Given the description of an element on the screen output the (x, y) to click on. 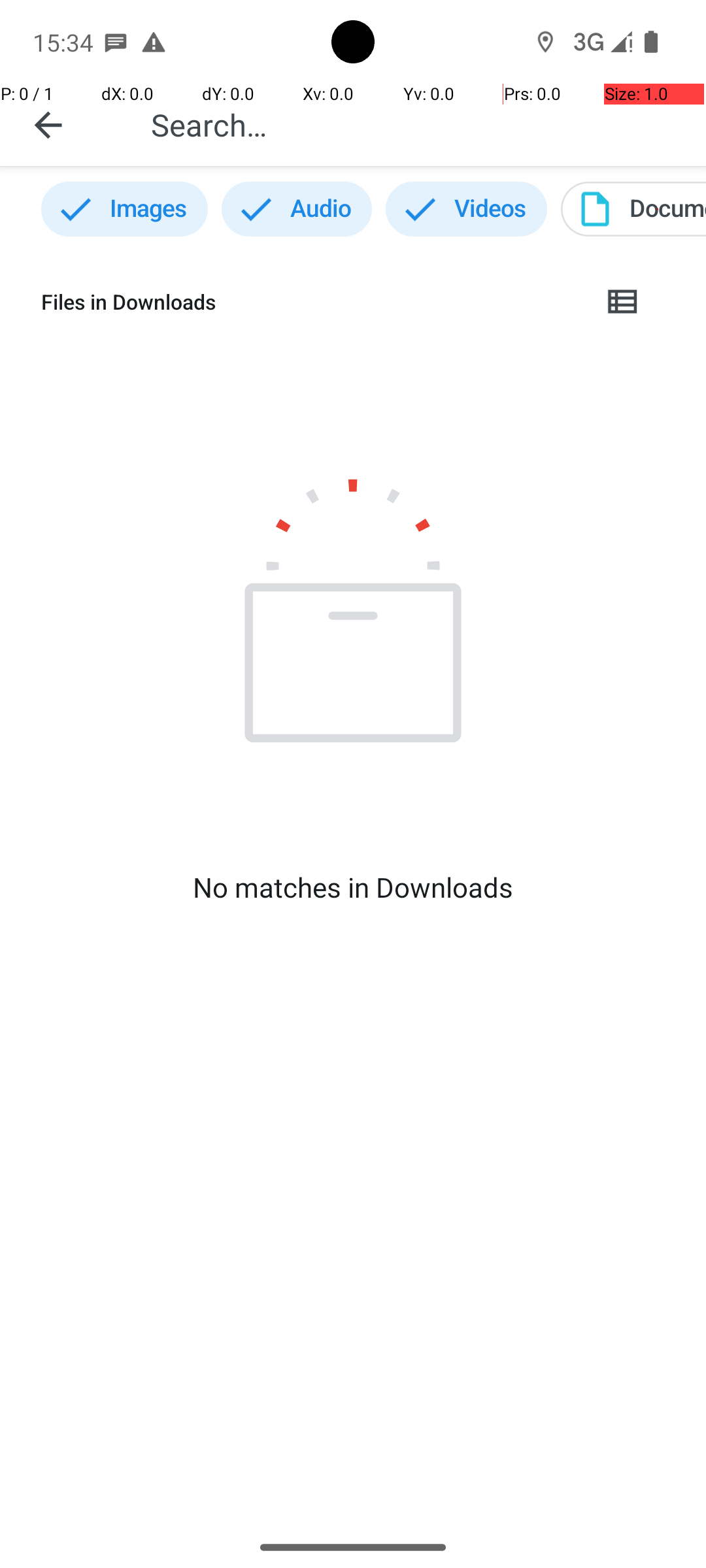
Files in Downloads Element type: android.widget.TextView (311, 301)
List view Element type: android.widget.TextView (622, 301)
Search… Element type: android.widget.AutoCompleteTextView (414, 124)
Images Element type: android.widget.CompoundButton (124, 208)
Audio Element type: android.widget.CompoundButton (296, 208)
Videos Element type: android.widget.CompoundButton (466, 208)
Documents Element type: android.widget.CompoundButton (633, 208)
No matches in Downloads Element type: android.widget.TextView (352, 886)
